Given the description of an element on the screen output the (x, y) to click on. 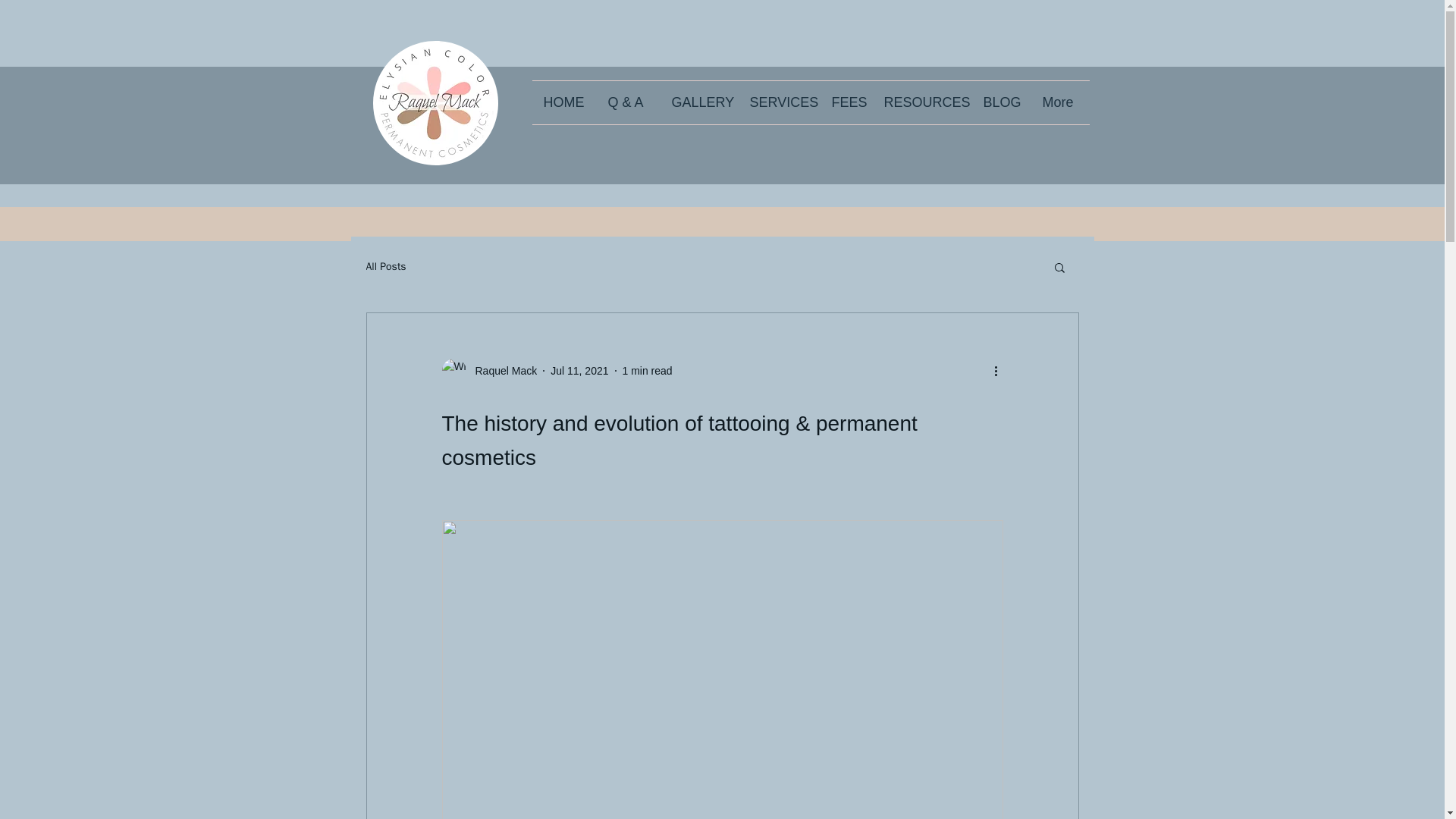
Raquel Mack (489, 370)
All Posts (385, 266)
Raquel Mack (501, 370)
SERVICES (779, 102)
FEES (846, 102)
1 min read (646, 369)
Jul 11, 2021 (579, 369)
RESOURCES (921, 102)
HOME (564, 102)
GALLERY (698, 102)
